Given the description of an element on the screen output the (x, y) to click on. 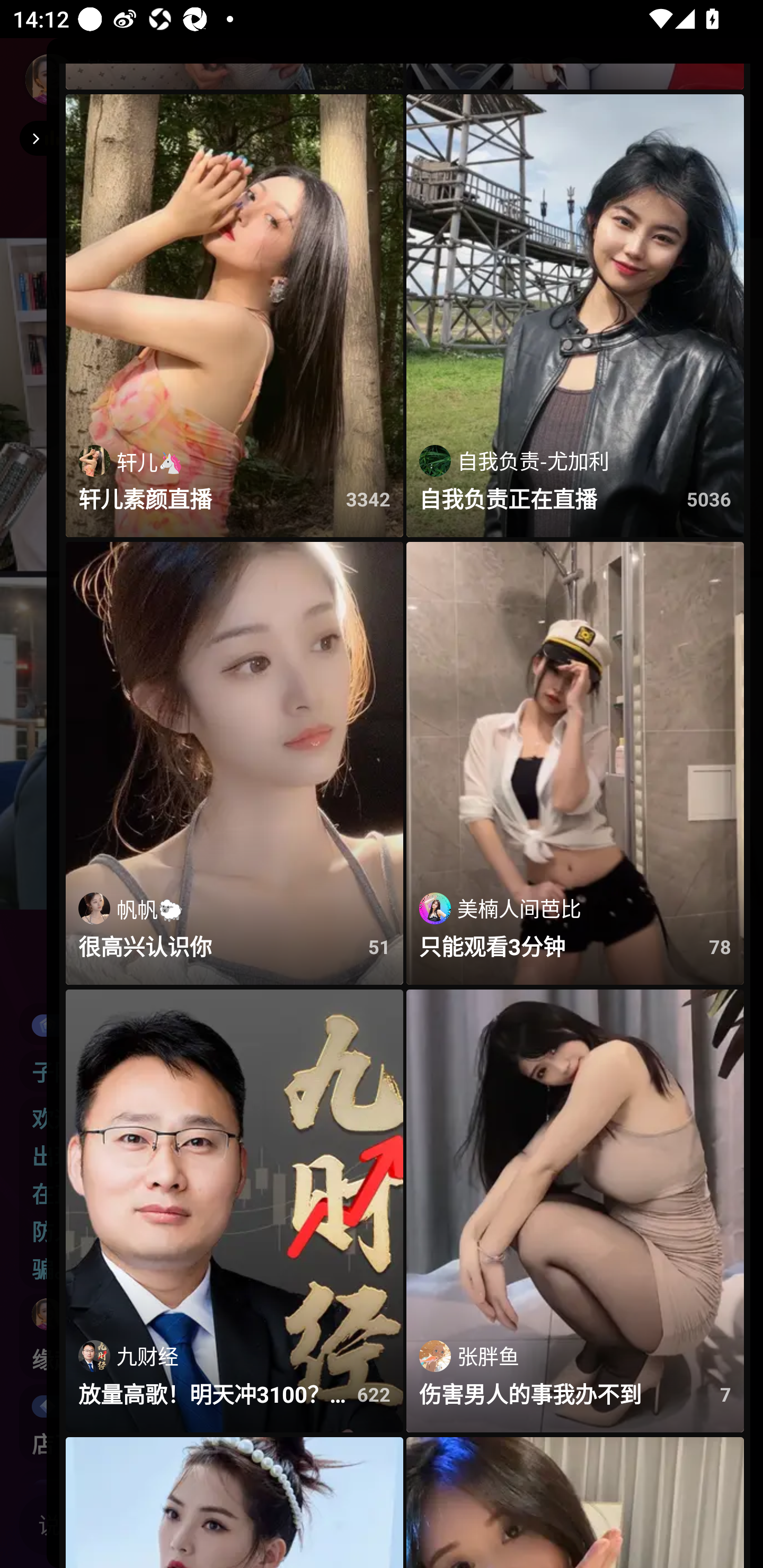
轩儿素颜直播 轩儿🦄 3342人在线 轩儿🦄 轩儿素颜直播 3342 (233, 315)
自我负责正在直播 自我负责-尤加利 5036人在线 自我负责-尤加利 自我负责正在直播 5036 (574, 315)
返回 (32, 137)
很高兴认识你 帆帆🐑 51人在线 帆帆🐑 很高兴认识你 51 (233, 763)
只能观看3分钟 美楠人间芭比 78人在线 美楠人间芭比 只能观看3分钟 78 (574, 763)
伤害男人的事我办不到 张胖鱼 7人在线 张胖鱼 伤害男人的事我办不到 7 (574, 1211)
